Given the description of an element on the screen output the (x, y) to click on. 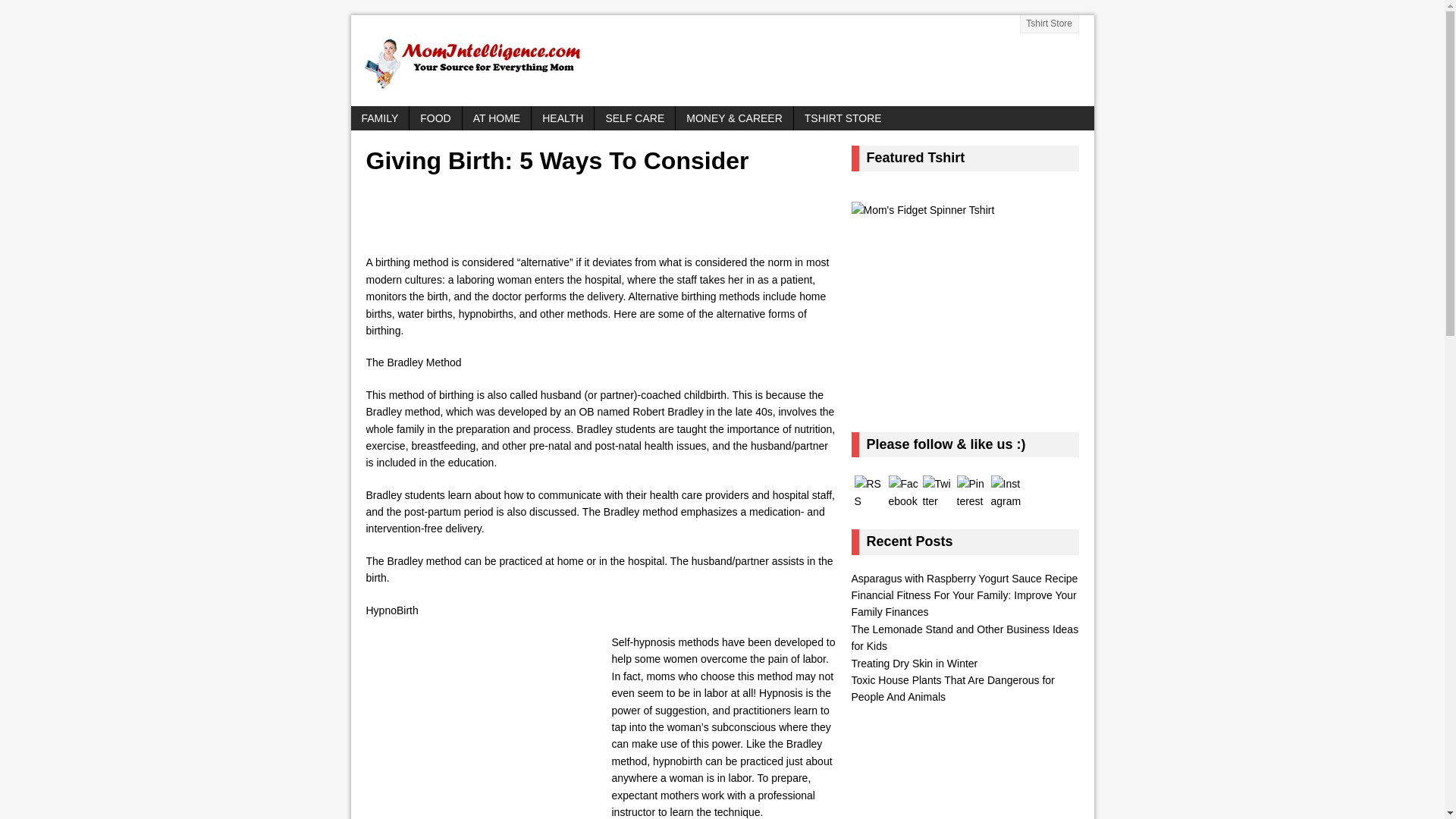
HEALTH (562, 118)
FAMILY (379, 118)
AT HOME (497, 118)
FOOD (435, 118)
Twitter (936, 492)
SELF CARE (634, 118)
Instagram (1005, 492)
Tshirt Store (1049, 23)
Treating Dry Skin in Winter (913, 663)
Facebook (903, 492)
TSHIRT STORE (842, 118)
The Lemonade Stand and Other Business Ideas for Kids (964, 637)
Asparagus with Raspberry Yogurt Sauce Recipe (963, 578)
Tips, Recipes and Sanity for Moms (721, 60)
RSS (868, 492)
